Given the description of an element on the screen output the (x, y) to click on. 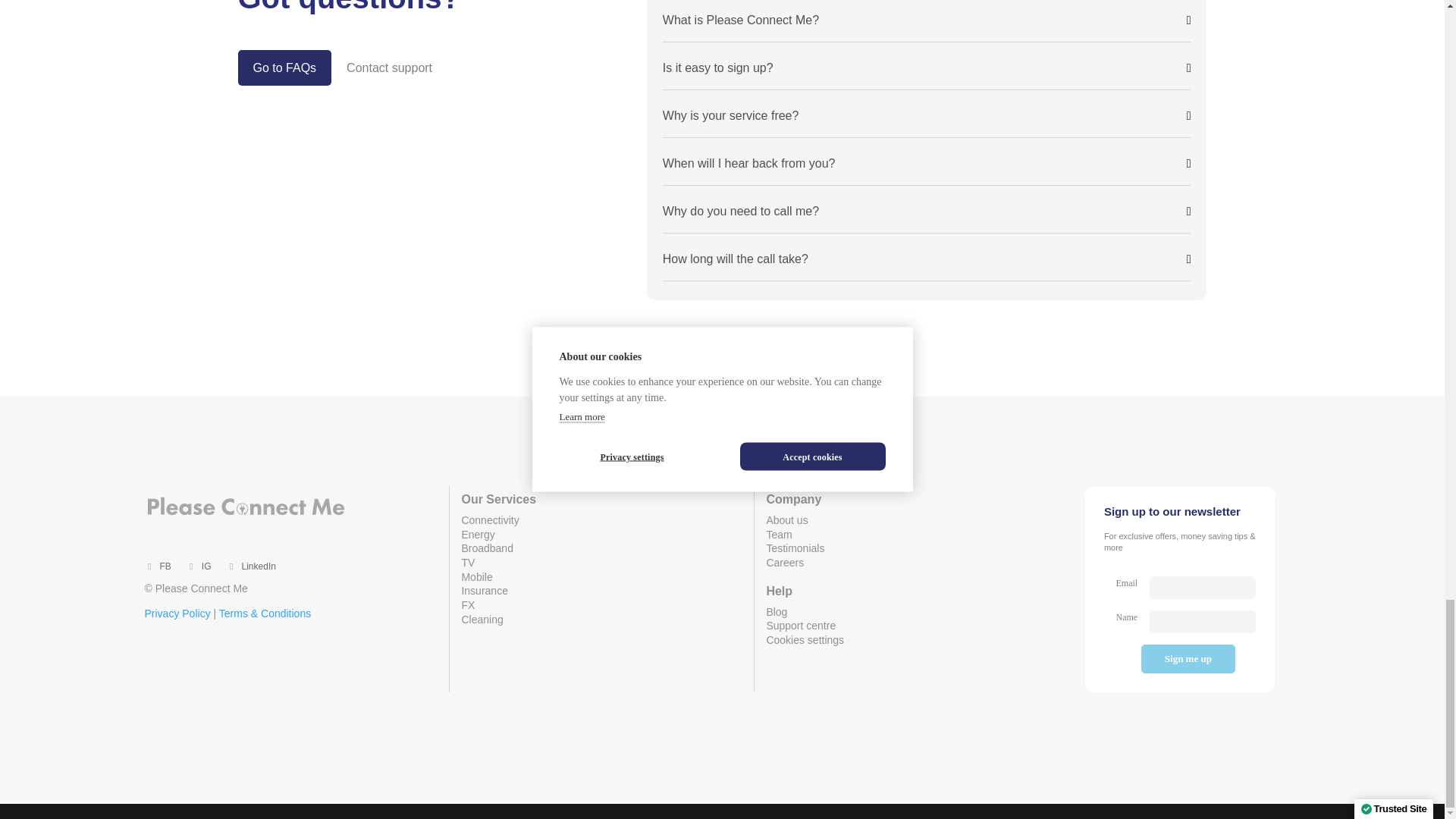
Sign me up (1188, 658)
